Given the description of an element on the screen output the (x, y) to click on. 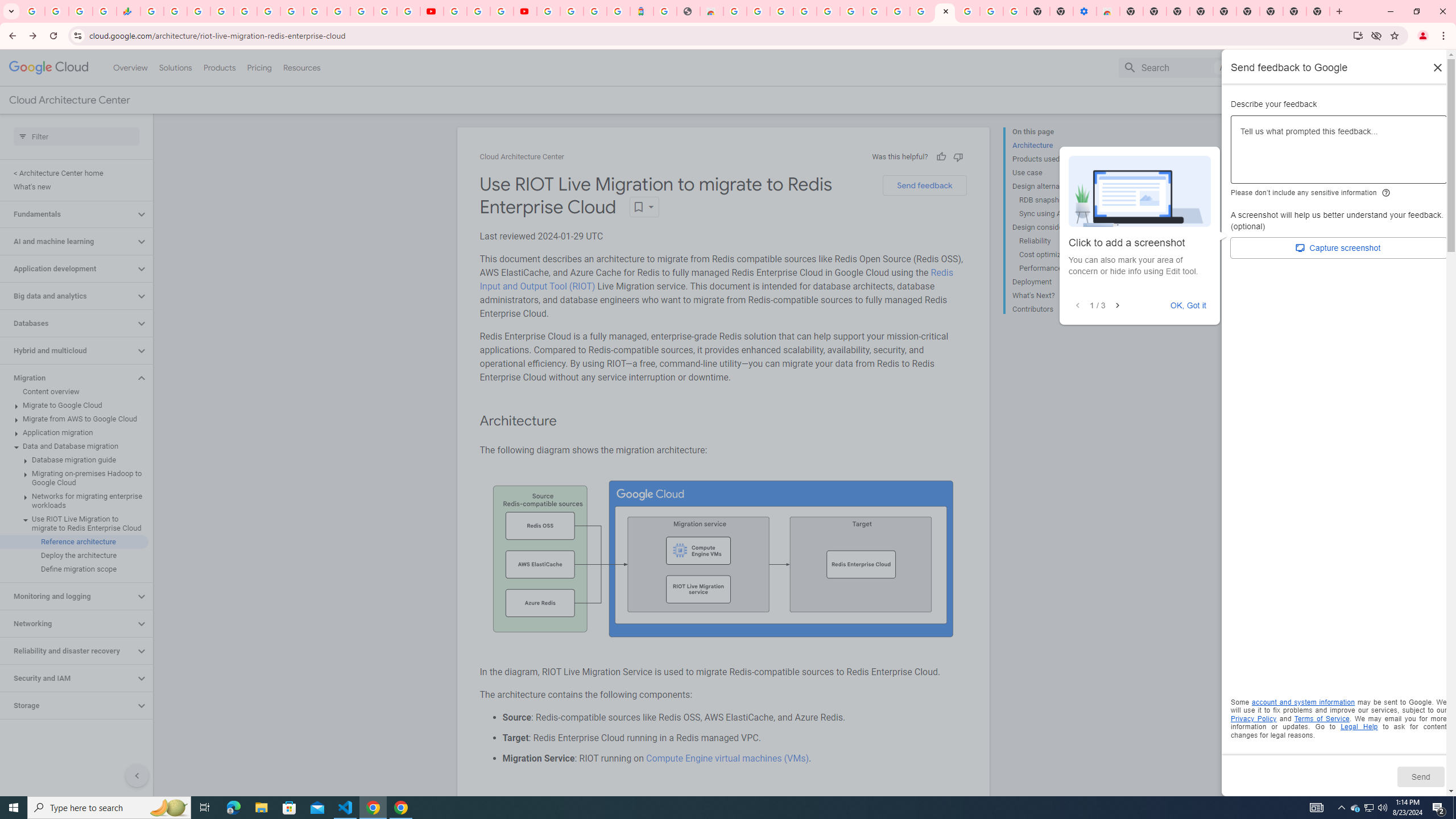
Content Creator Programs & Opportunities - YouTube Creators (524, 11)
Sign in - Google Accounts (827, 11)
Create your Google Account (501, 11)
Compute Engine virtual machines (VMs) (726, 758)
Create your Google Account (897, 11)
OK, Got it (1188, 305)
Database migration guide (74, 459)
Networking (67, 623)
Reference architecture (74, 541)
Opens in a new tab. Terms of Service (1321, 718)
